Given the description of an element on the screen output the (x, y) to click on. 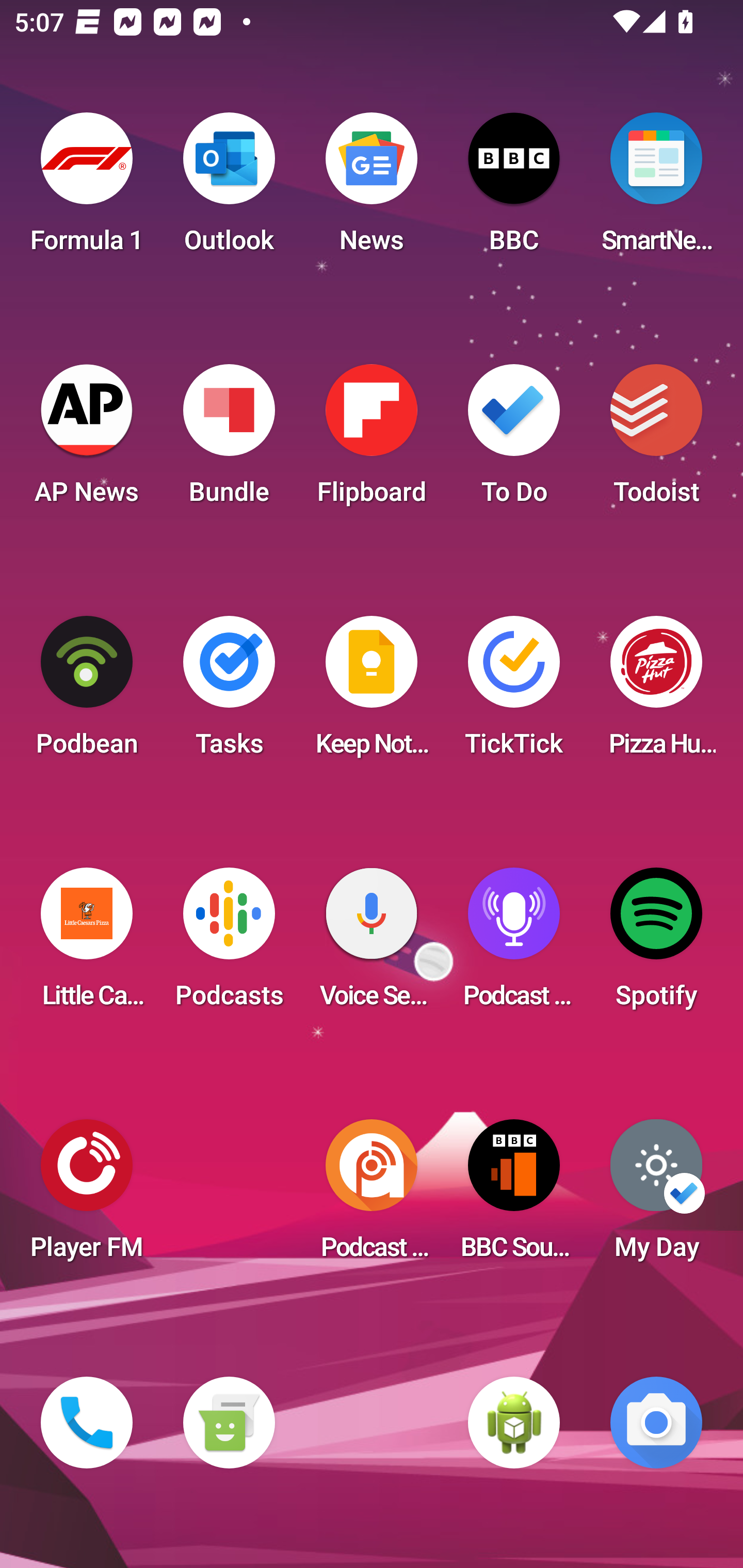
Formula 1 (86, 188)
Outlook (228, 188)
News (371, 188)
BBC (513, 188)
SmartNews (656, 188)
AP News (86, 440)
Bundle (228, 440)
Flipboard (371, 440)
To Do (513, 440)
Todoist (656, 440)
Podbean (86, 692)
Tasks (228, 692)
Keep Notes (371, 692)
TickTick (513, 692)
Pizza Hut HK & Macau (656, 692)
Little Caesars Pizza (86, 943)
Podcasts (228, 943)
Voice Search (371, 943)
Podcast Player (513, 943)
Spotify (656, 943)
Player FM (86, 1195)
Podcast Addict (371, 1195)
BBC Sounds (513, 1195)
My Day (656, 1195)
Phone (86, 1422)
Messaging (228, 1422)
WebView Browser Tester (513, 1422)
Camera (656, 1422)
